Given the description of an element on the screen output the (x, y) to click on. 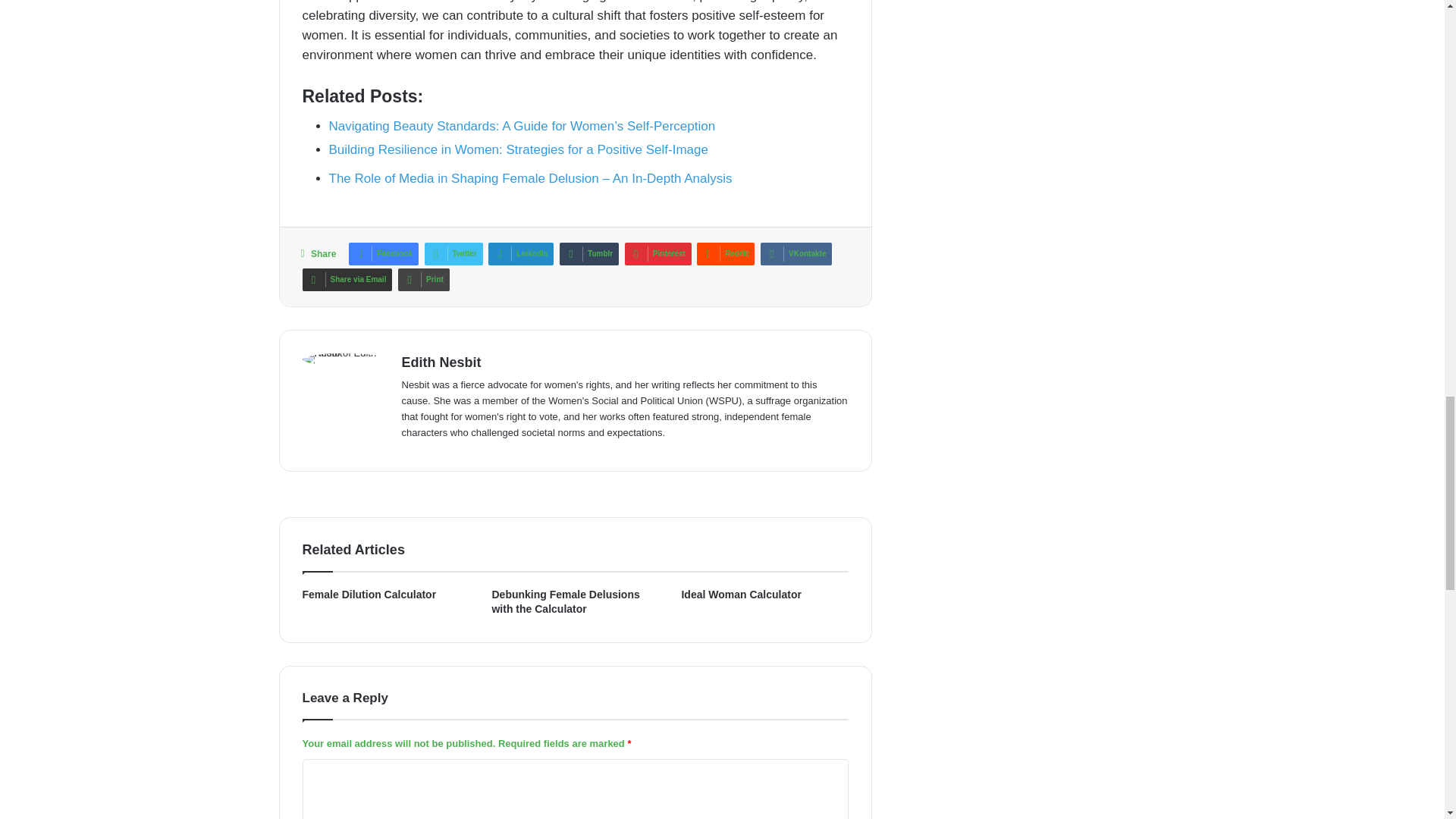
LinkedIn (520, 253)
Pinterest (657, 253)
Reddit (725, 253)
Pinterest (657, 253)
Edith Nesbit (441, 362)
VKontakte (795, 253)
Print (423, 279)
Twitter (454, 253)
Tumblr (588, 253)
Reddit (725, 253)
Tumblr (588, 253)
Ideal Woman Calculator (740, 594)
Debunking Female Delusions with the Calculator (565, 601)
Facebook (384, 253)
VKontakte (795, 253)
